Given the description of an element on the screen output the (x, y) to click on. 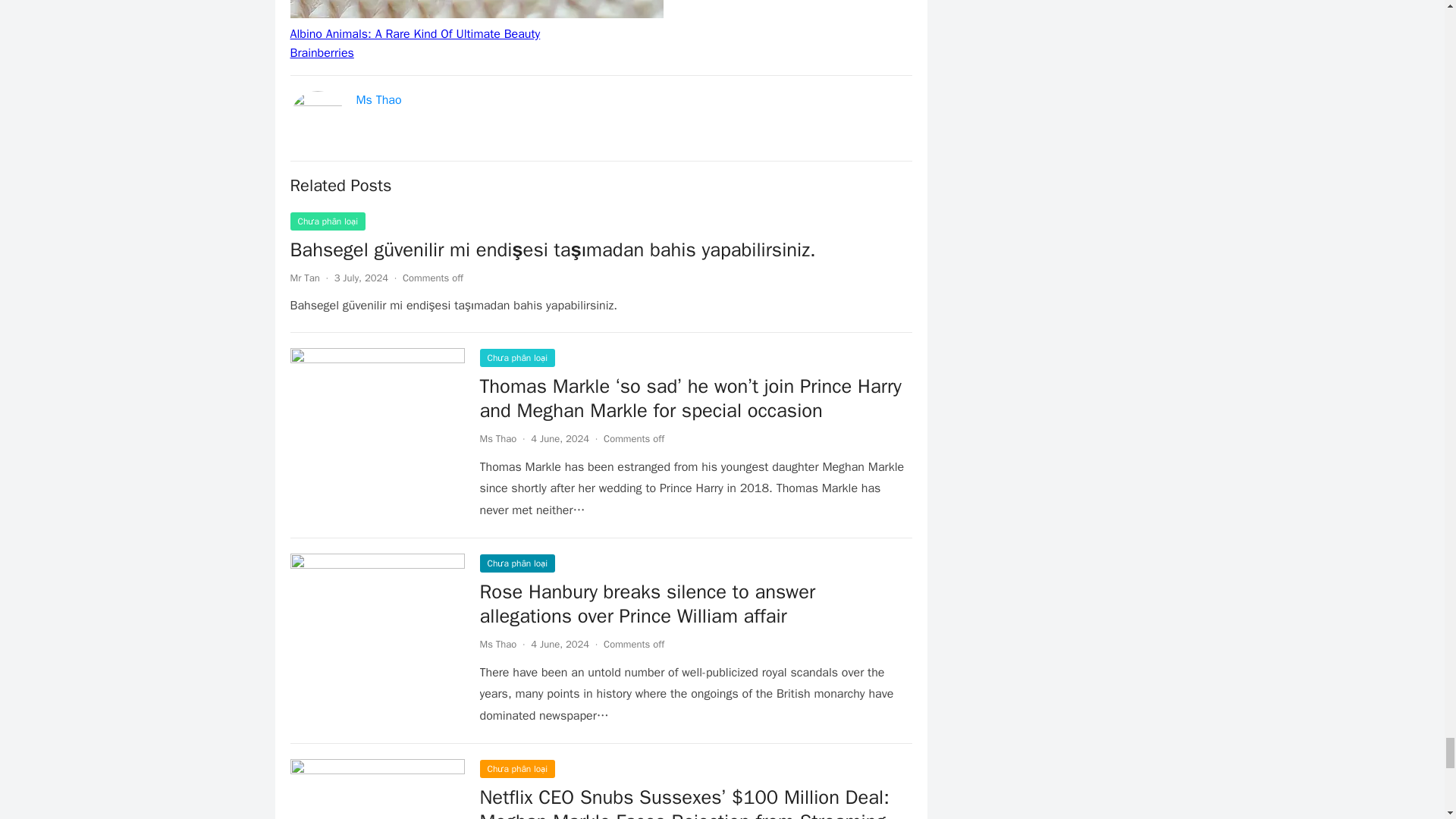
Mr Tan (303, 277)
Ms Thao (497, 438)
Ms Thao (378, 99)
